Given the description of an element on the screen output the (x, y) to click on. 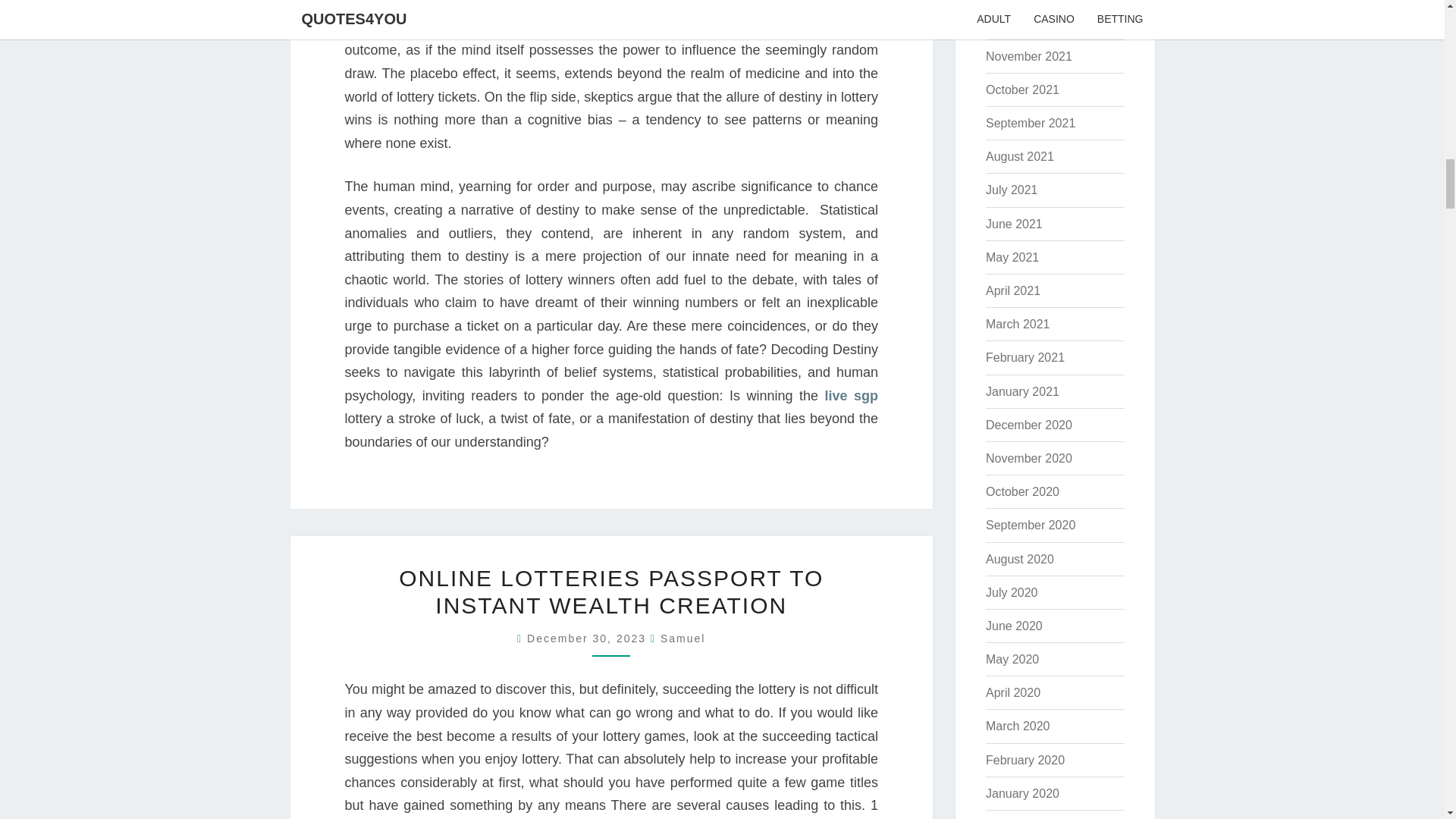
live sgp (851, 395)
December 30, 2023 (588, 638)
Samuel (682, 638)
View all posts by Samuel (682, 638)
ONLINE LOTTERIES PASSPORT TO INSTANT WEALTH CREATION (611, 591)
10:08 am (588, 638)
